Given the description of an element on the screen output the (x, y) to click on. 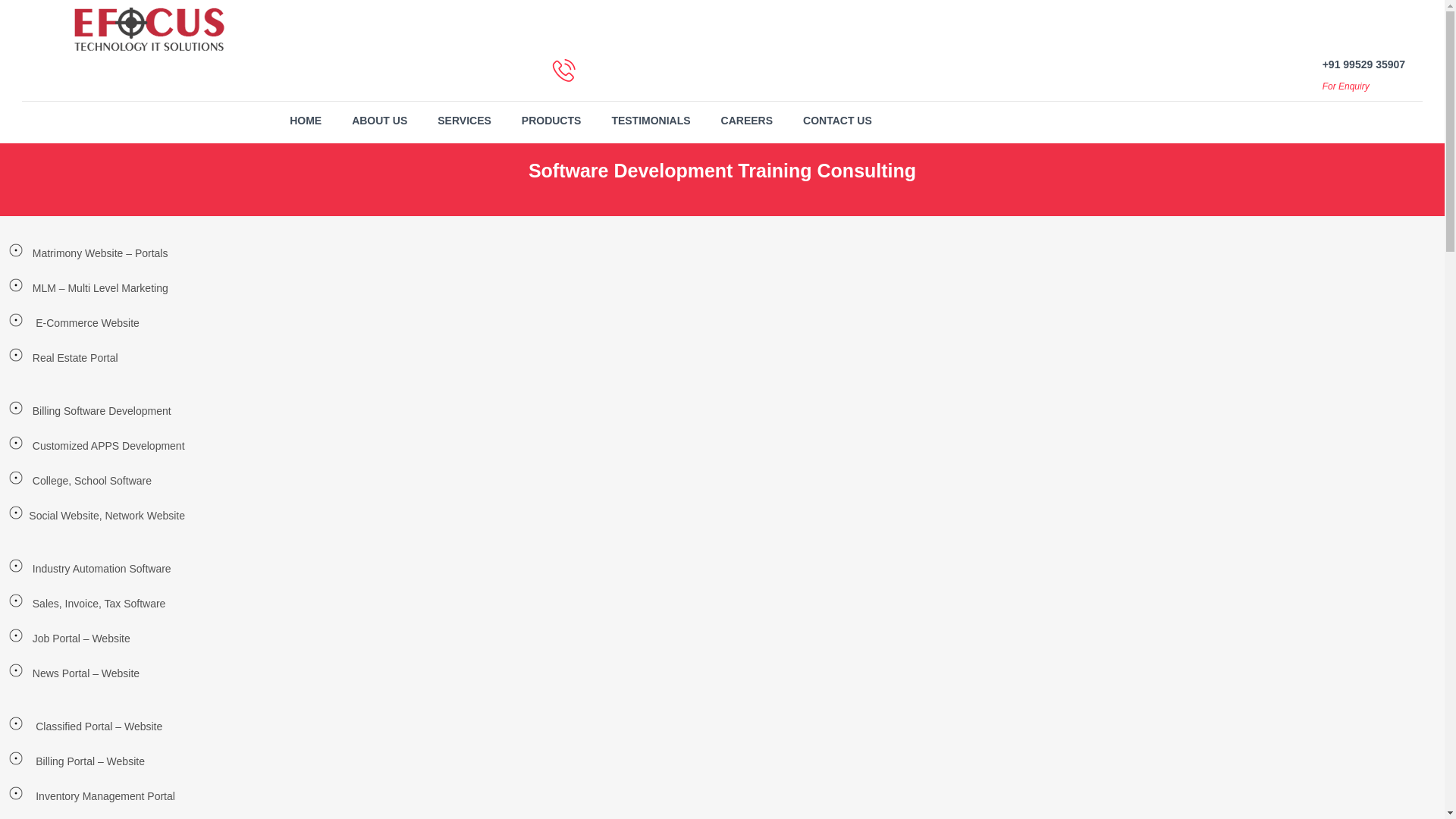
CAREERS (746, 121)
MLM Software Development Company Chennai Tamilnadu India (88, 761)
MLM Software Development Company Chennai Tamilnadu India (100, 411)
 E-Commerce Website (85, 323)
 Social Website, Network Website (105, 515)
MLM Software Development Company Chennai Tamilnadu India (84, 673)
HOME (305, 121)
 Industry Automation Software (100, 569)
 Billing Software Development (100, 411)
 Real Estate Portal (73, 358)
 Sales, Invoice, Tax Software (97, 603)
 College, School Software (90, 480)
MLM Software Development Company Chennai Tamilnadu India (98, 253)
CONTACT US (836, 121)
MLM Software Development Company Chennai Tamilnadu India (98, 288)
